Given the description of an element on the screen output the (x, y) to click on. 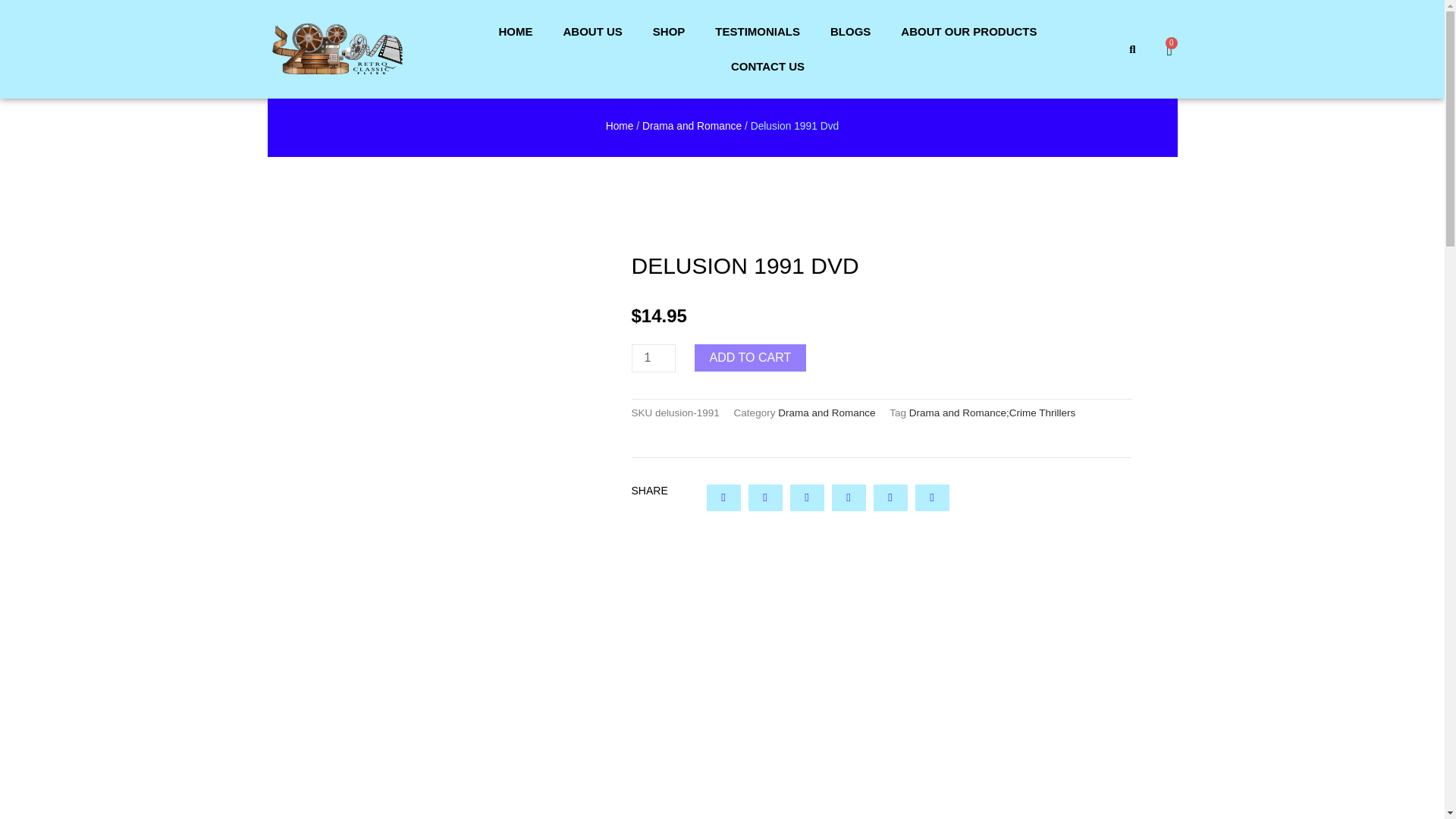
SHOP (668, 31)
HOME (515, 31)
BLOGS (850, 31)
ABOUT OUR PRODUCTS (968, 31)
TESTIMONIALS (757, 31)
1 (652, 357)
ABOUT US (592, 31)
CONTACT US (767, 66)
